Given the description of an element on the screen output the (x, y) to click on. 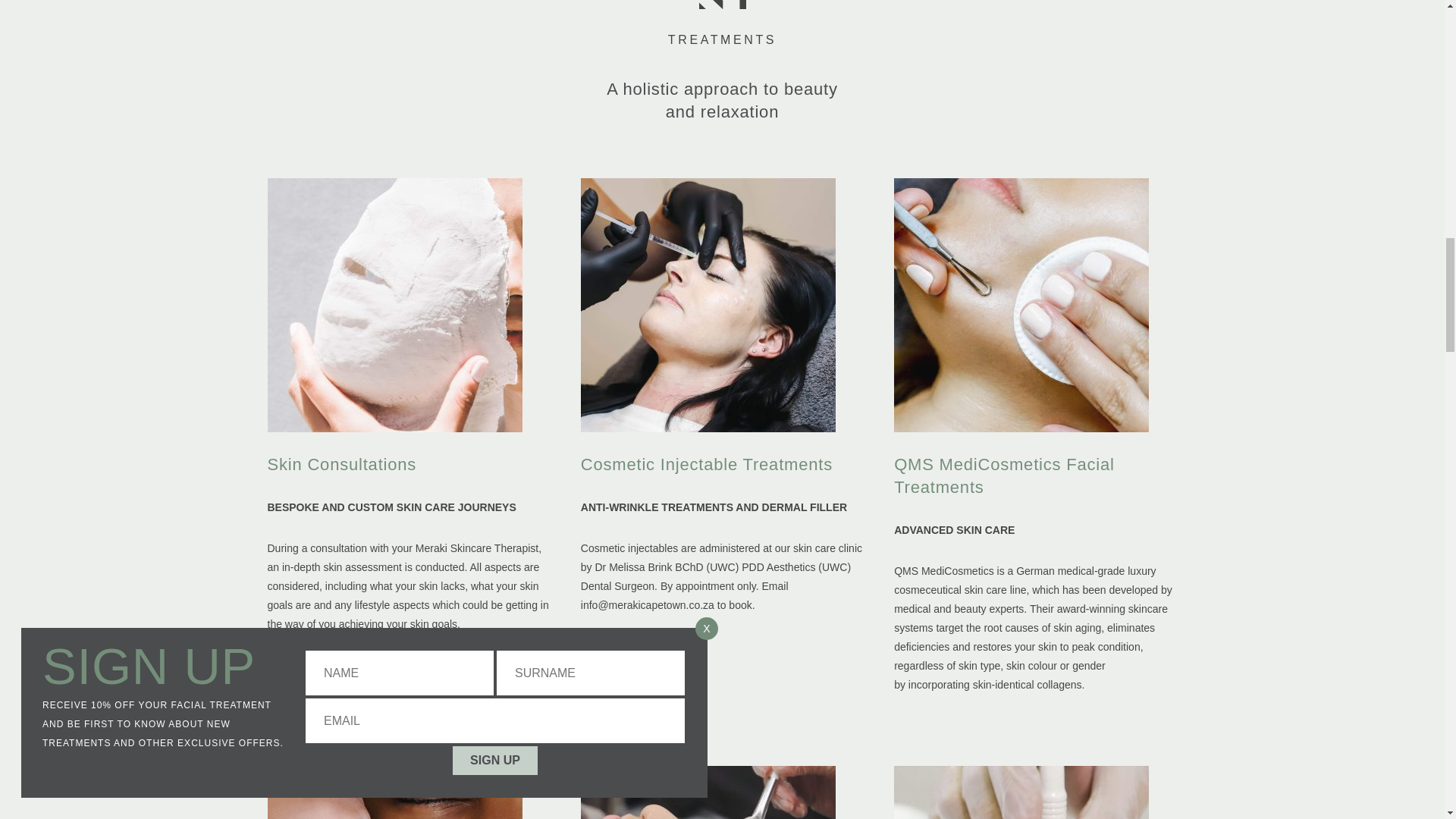
QMS MediCosmetics (942, 570)
